Given the description of an element on the screen output the (x, y) to click on. 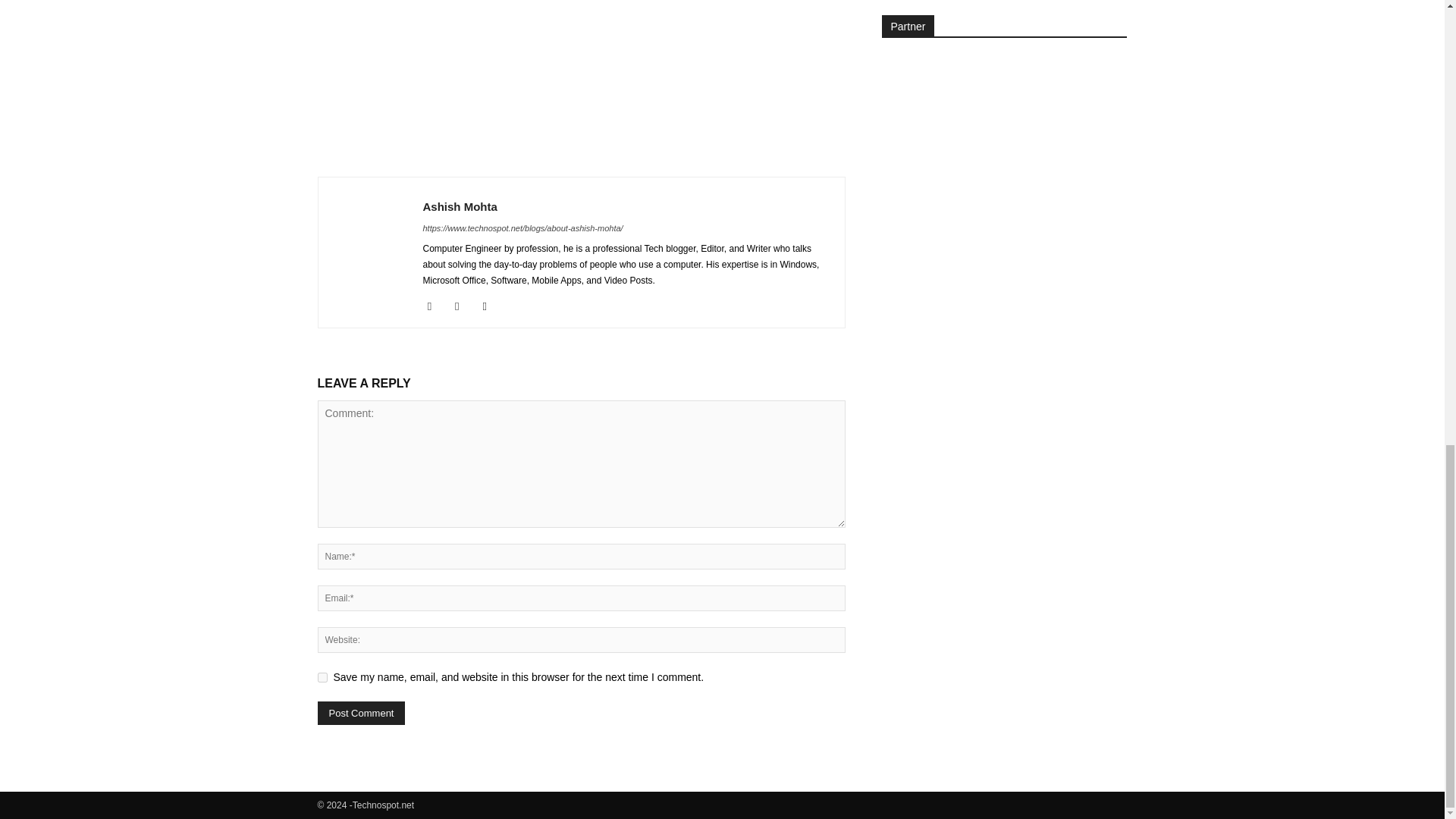
Ashish Mohta (460, 205)
Post Comment (360, 712)
Post Comment (360, 712)
yes (321, 677)
Facebook (435, 306)
Twitter (489, 306)
Linkedin (462, 306)
